Given the description of an element on the screen output the (x, y) to click on. 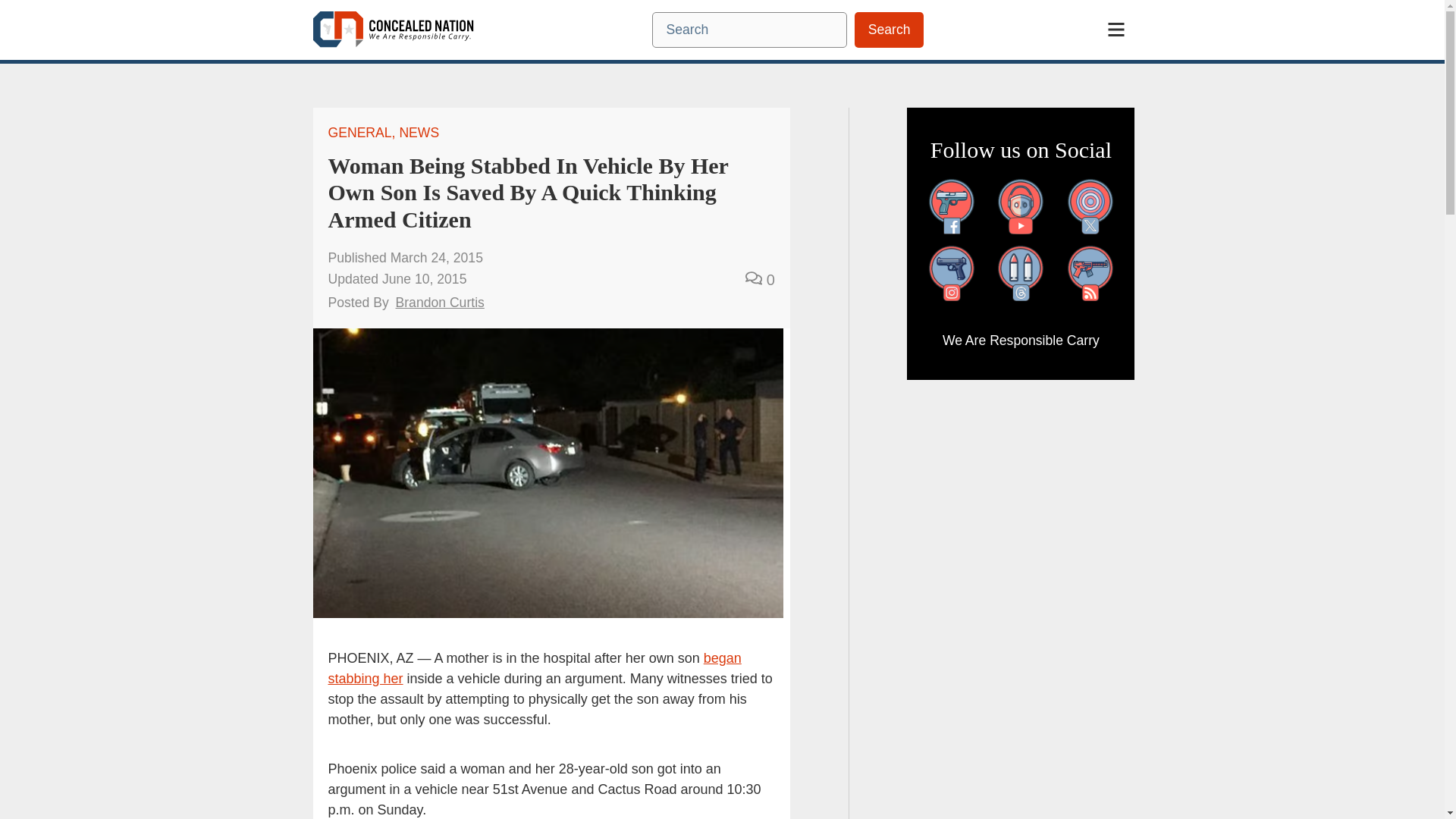
NEWS (418, 132)
Brandon Curtis (440, 302)
Number of Comments (759, 279)
GENERAL (359, 132)
began stabbing her (534, 668)
Search (888, 29)
